Given the description of an element on the screen output the (x, y) to click on. 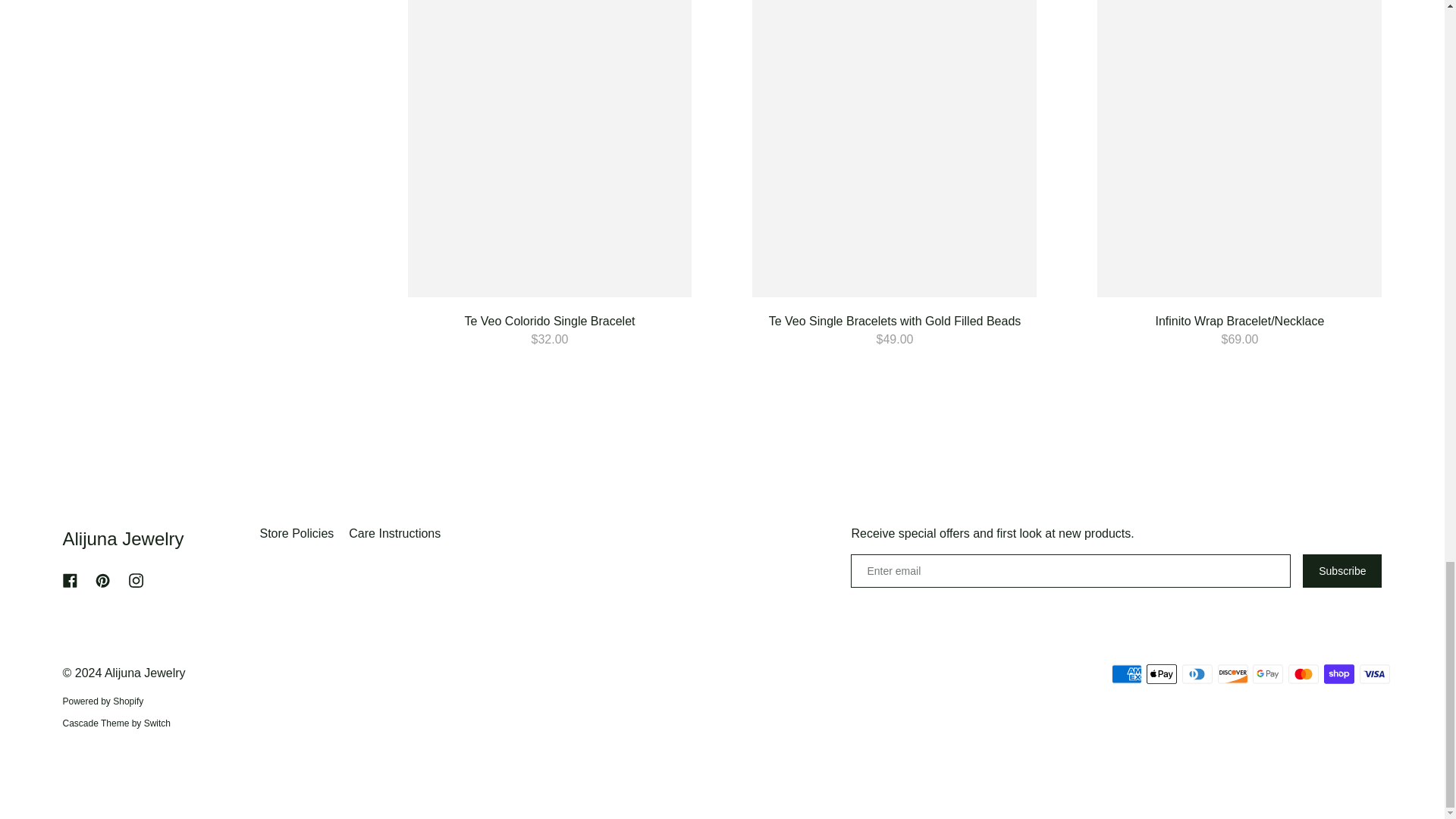
Mastercard (1303, 673)
American Express (1126, 673)
Alijuna Jewelry on Instagram (135, 580)
Switch (95, 723)
Apple Pay (1161, 673)
Diners Club (1197, 673)
Shop Pay (1338, 673)
Visa (1373, 673)
Switch (157, 723)
Discover (1232, 673)
Alijuna Jewelry on Pinterest (102, 580)
Alijuna Jewelry on Facebook (69, 580)
Google Pay (1267, 673)
